Given the description of an element on the screen output the (x, y) to click on. 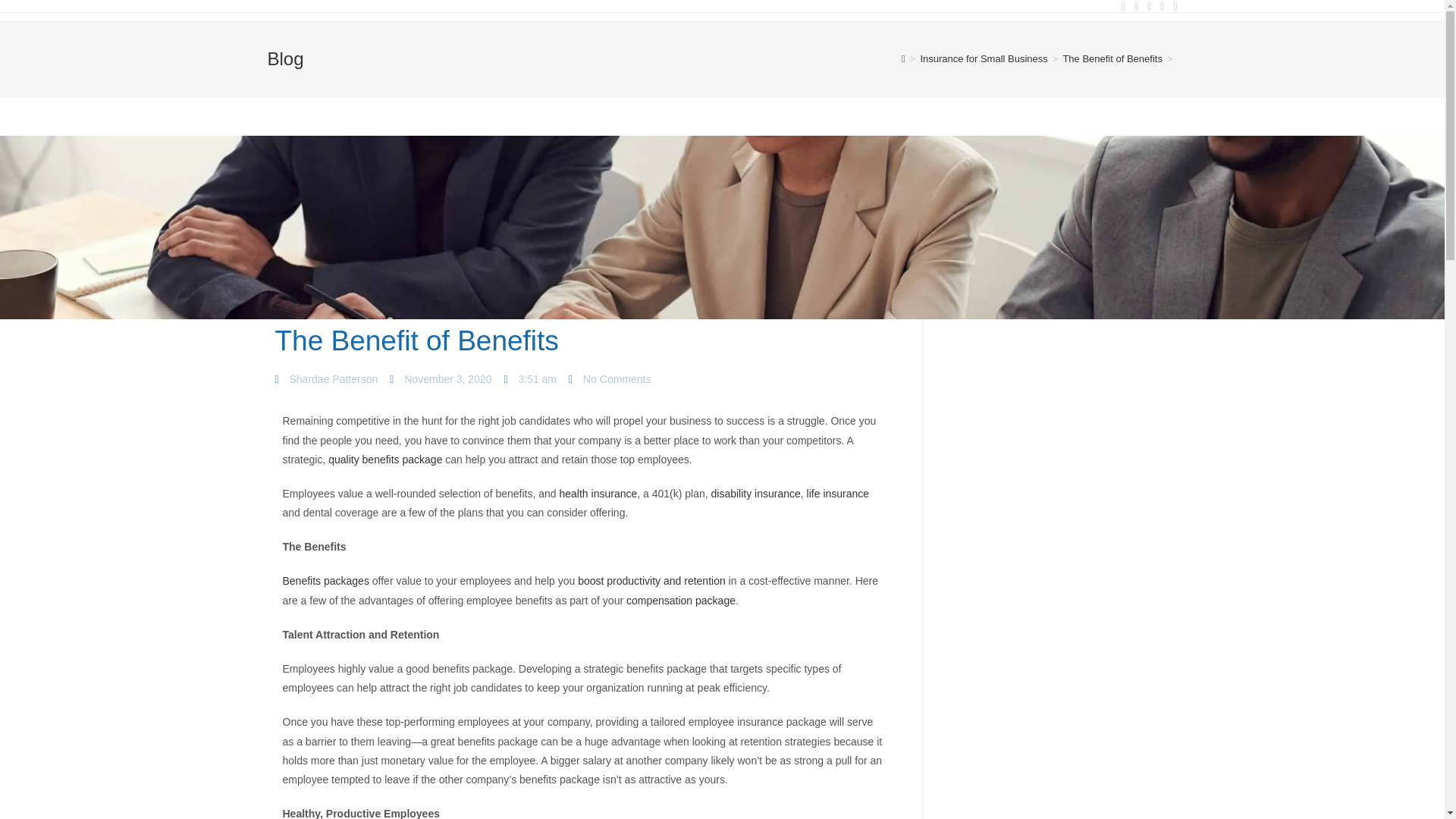
life insurance (837, 493)
Benefits packages (325, 580)
disability insurance (755, 493)
2340 E. Trinity Mills Rd. Suite 300 Carrollton, TX  (1106, 656)
The Benefit of Benefits (1111, 58)
November 3, 2020 (441, 379)
boost productivity and retention (651, 580)
Insurance for Small Business (983, 58)
No Comments (609, 379)
Shardae Patterson (326, 379)
quality benefits package (385, 459)
health insurance (598, 493)
